Given the description of an element on the screen output the (x, y) to click on. 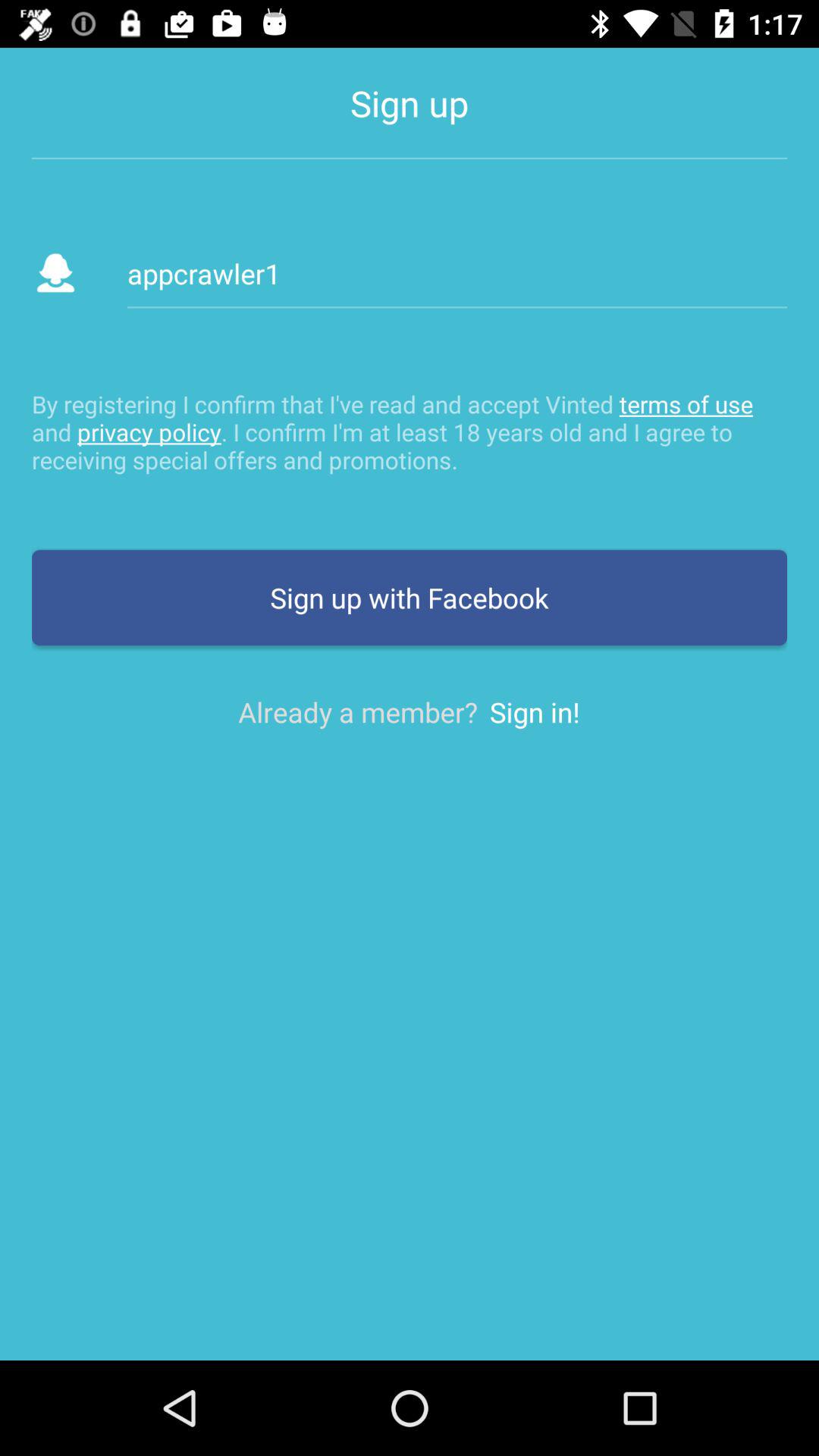
turn on by registering i item (409, 431)
